Given the description of an element on the screen output the (x, y) to click on. 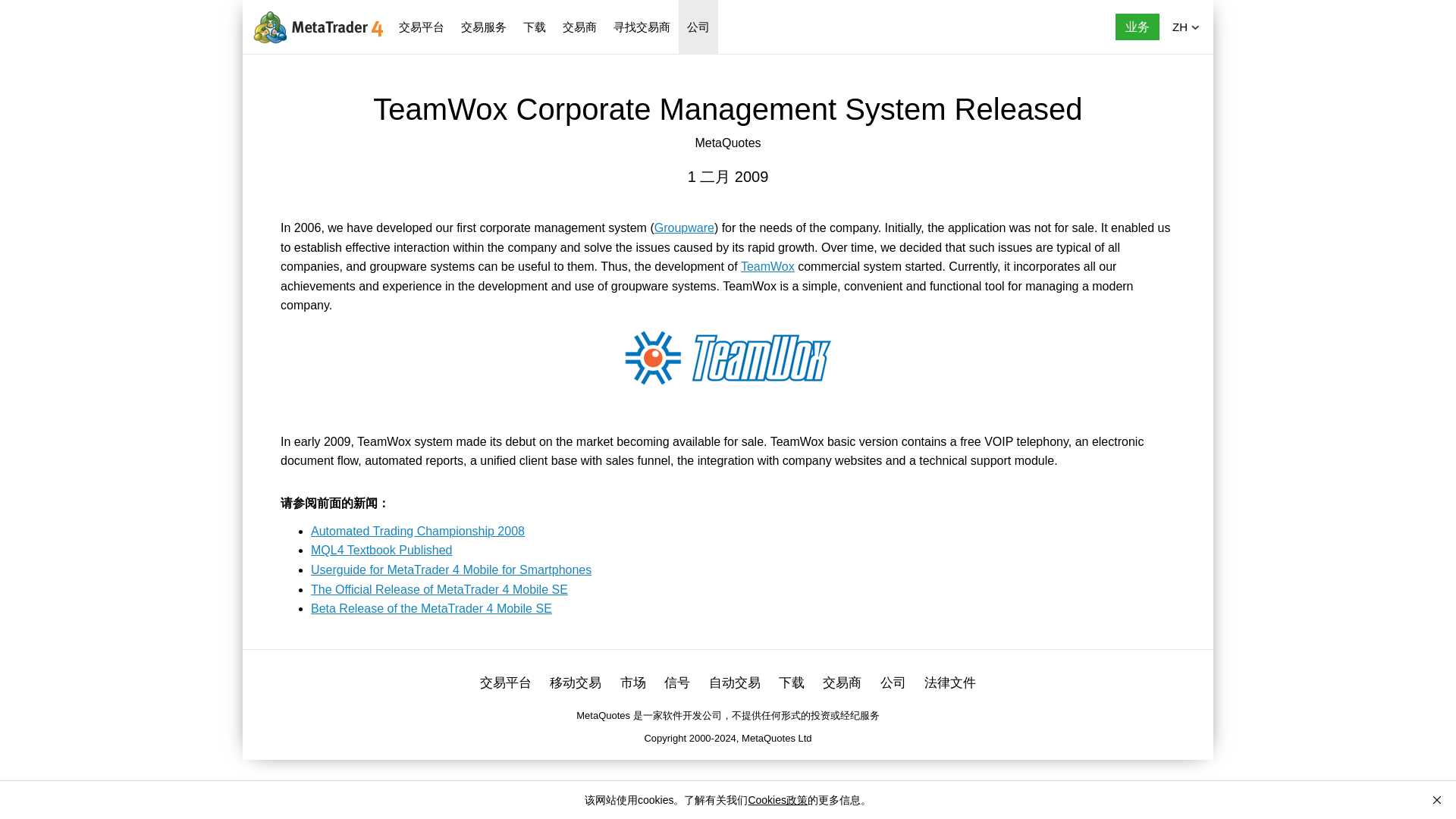
Groupware (683, 227)
MetaTrader 4 (316, 26)
TeamWox Collaboration System (767, 266)
TeamWox Corporate Management System (727, 357)
